Given the description of an element on the screen output the (x, y) to click on. 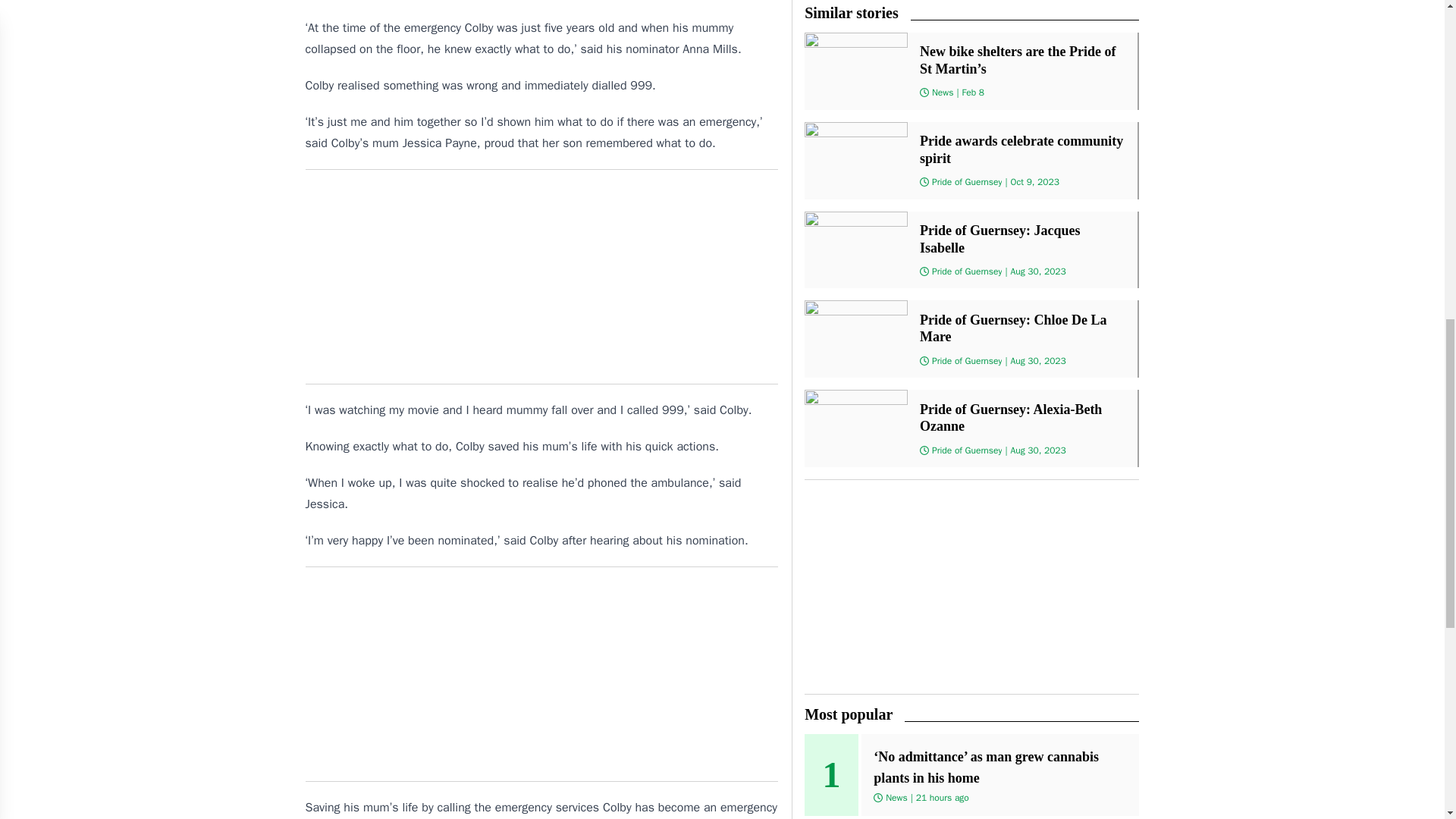
News (896, 797)
Pride of Guernsey (967, 182)
Pride of Guernsey (967, 450)
News (942, 92)
Pride of Guernsey (967, 271)
Pride of Guernsey (967, 360)
